Given the description of an element on the screen output the (x, y) to click on. 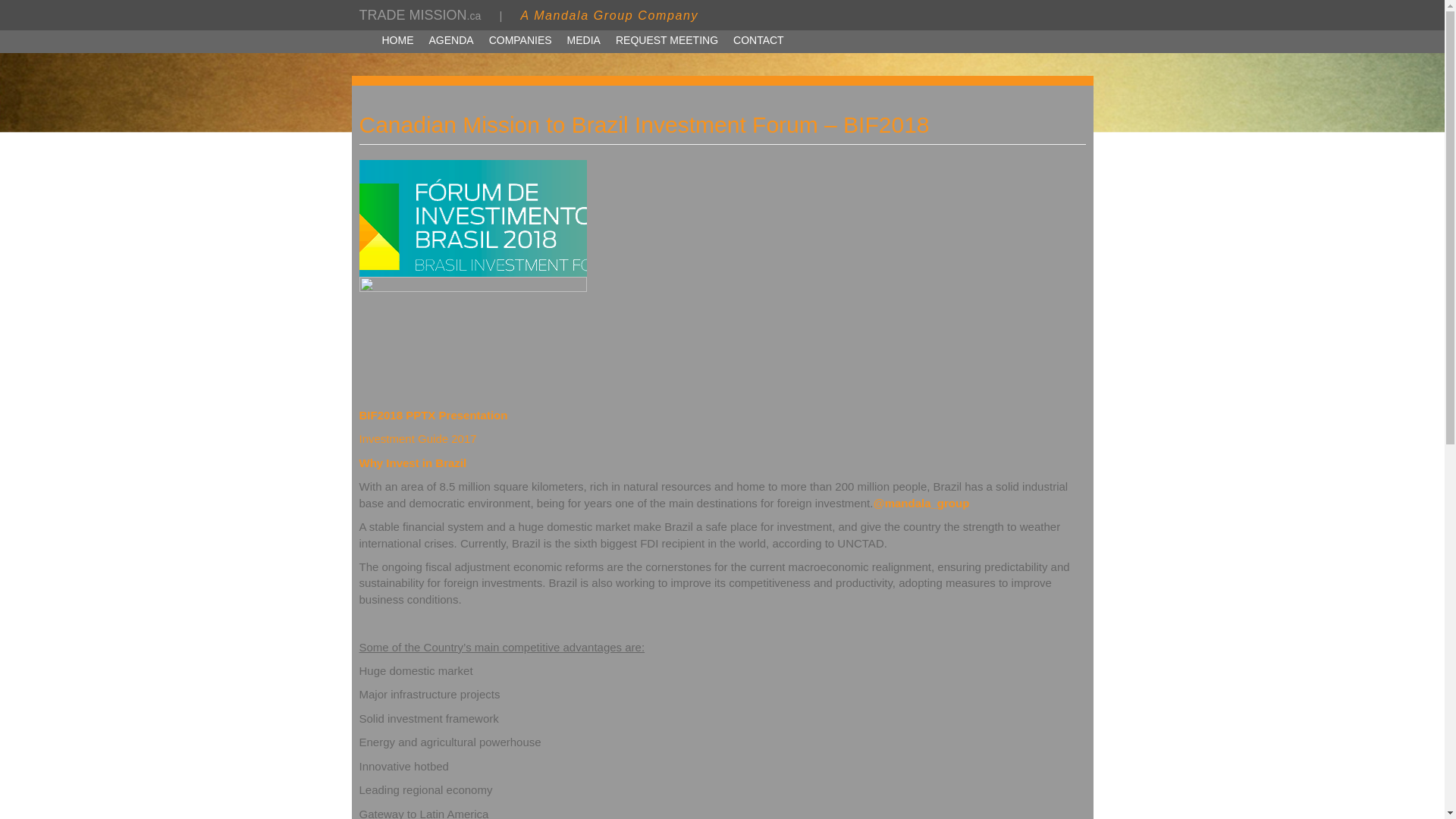
REQUEST MEETING (666, 40)
CONTACT (758, 40)
COMPANIES (520, 40)
AGENDA (451, 40)
A Mandala Group Company (608, 15)
Investment Guide 2017 (418, 438)
TRADE MISSION.ca (420, 15)
HOME (398, 40)
BIF2018 PPTX Presentation (433, 414)
MEDIA (583, 40)
